Given the description of an element on the screen output the (x, y) to click on. 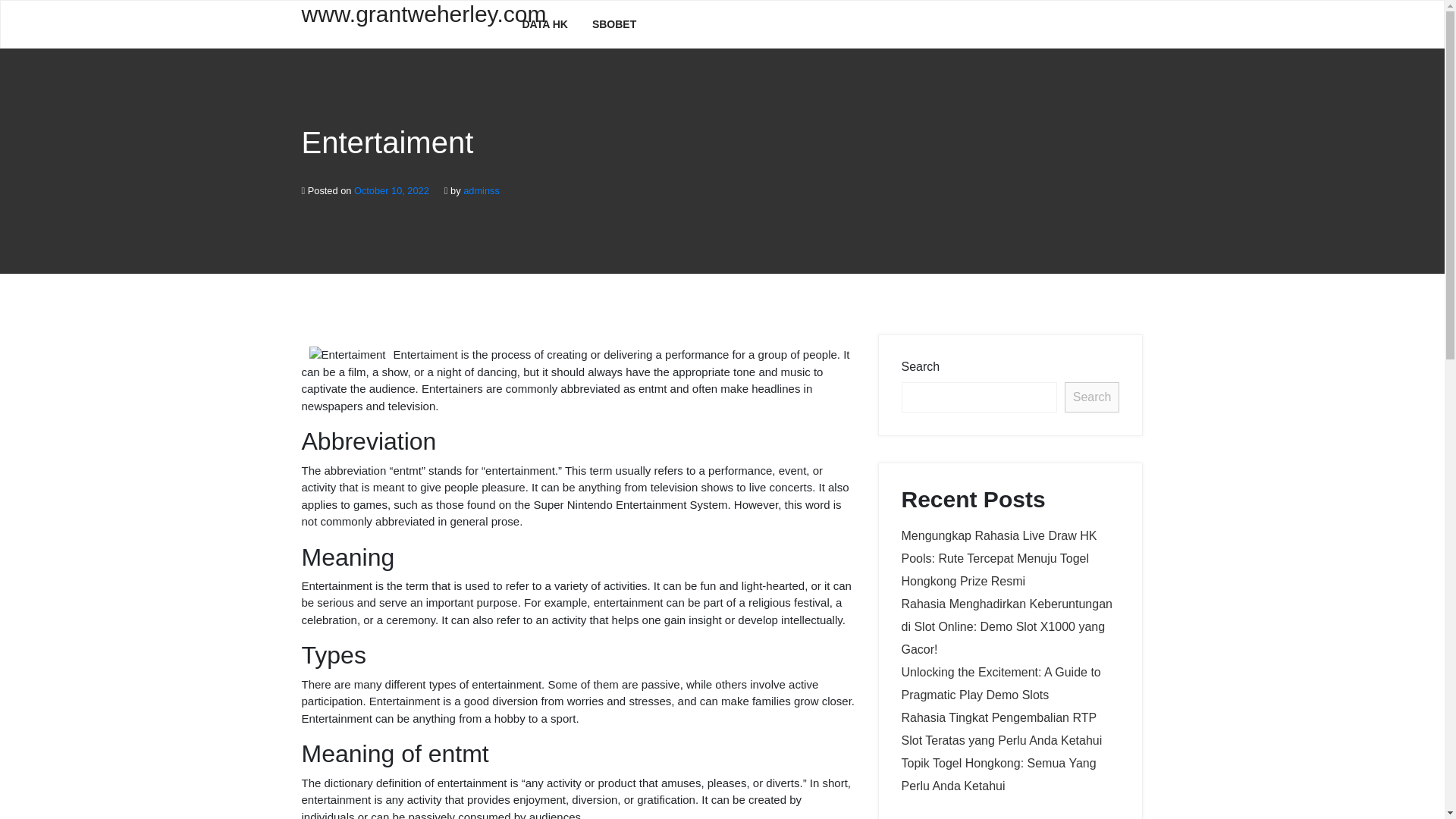
DATA HK (544, 23)
Search (1091, 397)
www.grantweherley.com (400, 22)
October 10, 2022 (391, 190)
data hk (544, 23)
SBOBET (613, 23)
SBOBET (613, 23)
adminss (481, 190)
Topik Togel Hongkong: Semua Yang Perlu Anda Ketahui (998, 774)
